Given the description of an element on the screen output the (x, y) to click on. 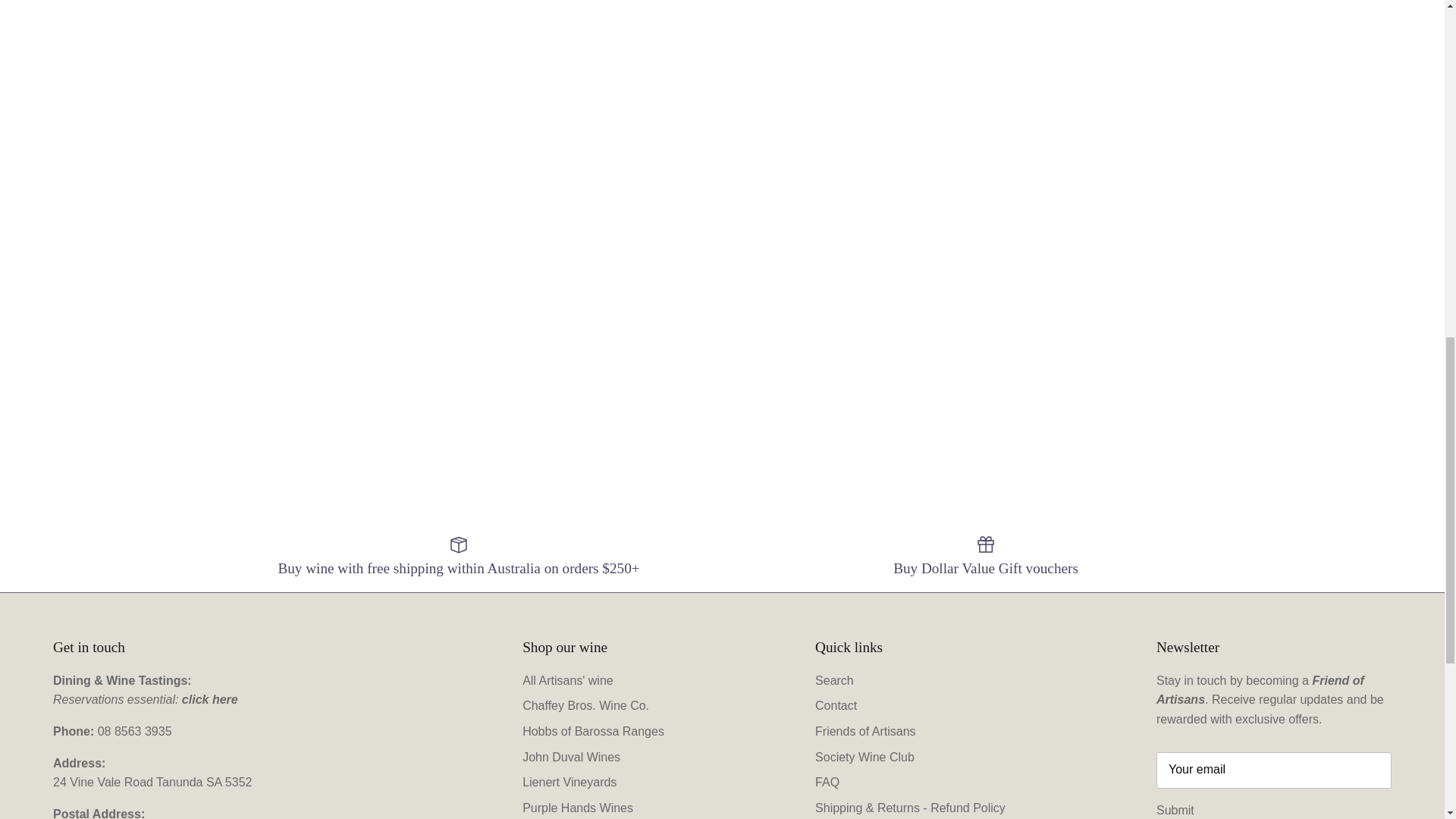
Book (210, 698)
GOOGLE MAPS (151, 781)
tel:08 8563 3935 (134, 730)
